Given the description of an element on the screen output the (x, y) to click on. 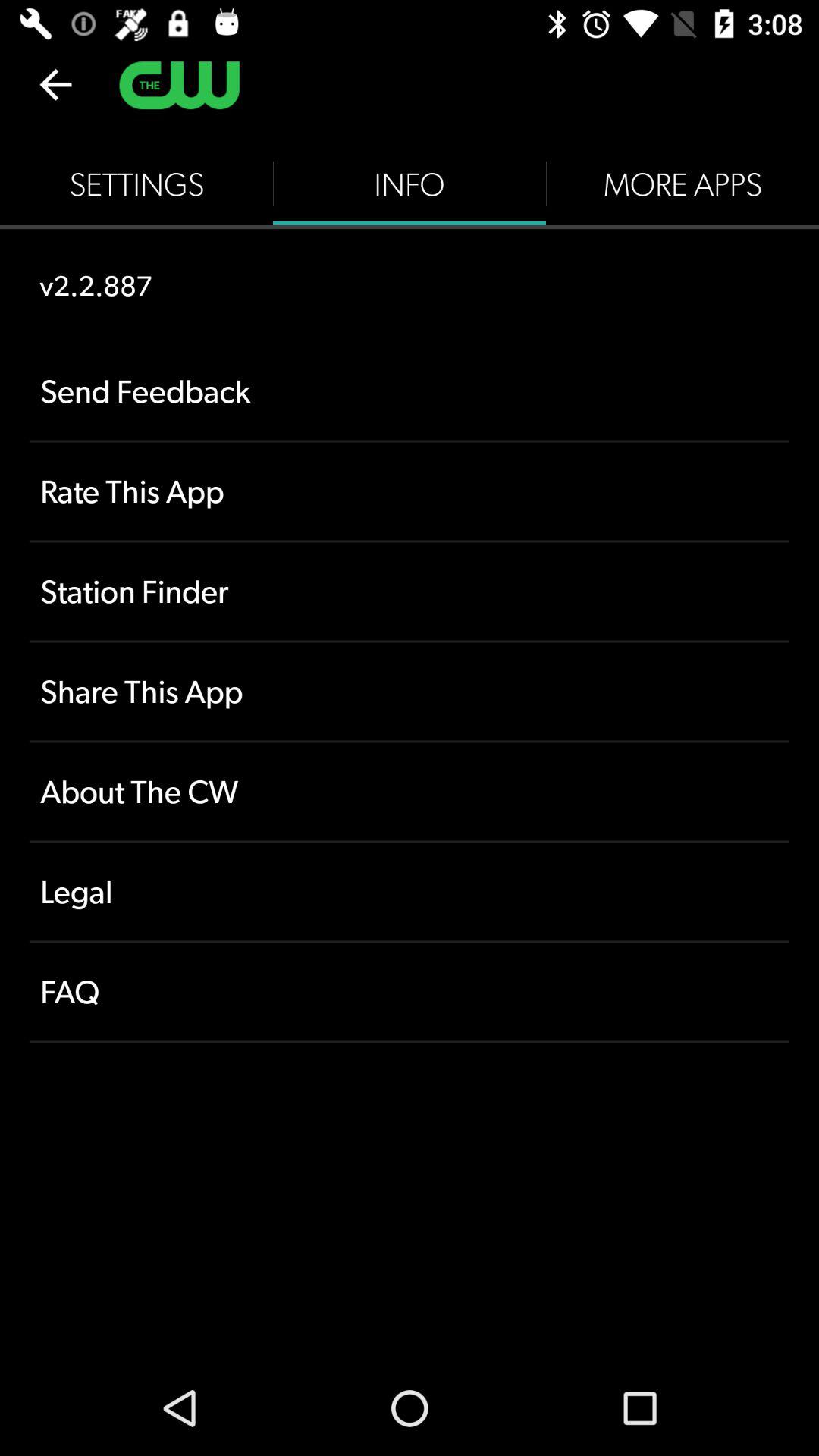
select the icon above settings (55, 84)
